Given the description of an element on the screen output the (x, y) to click on. 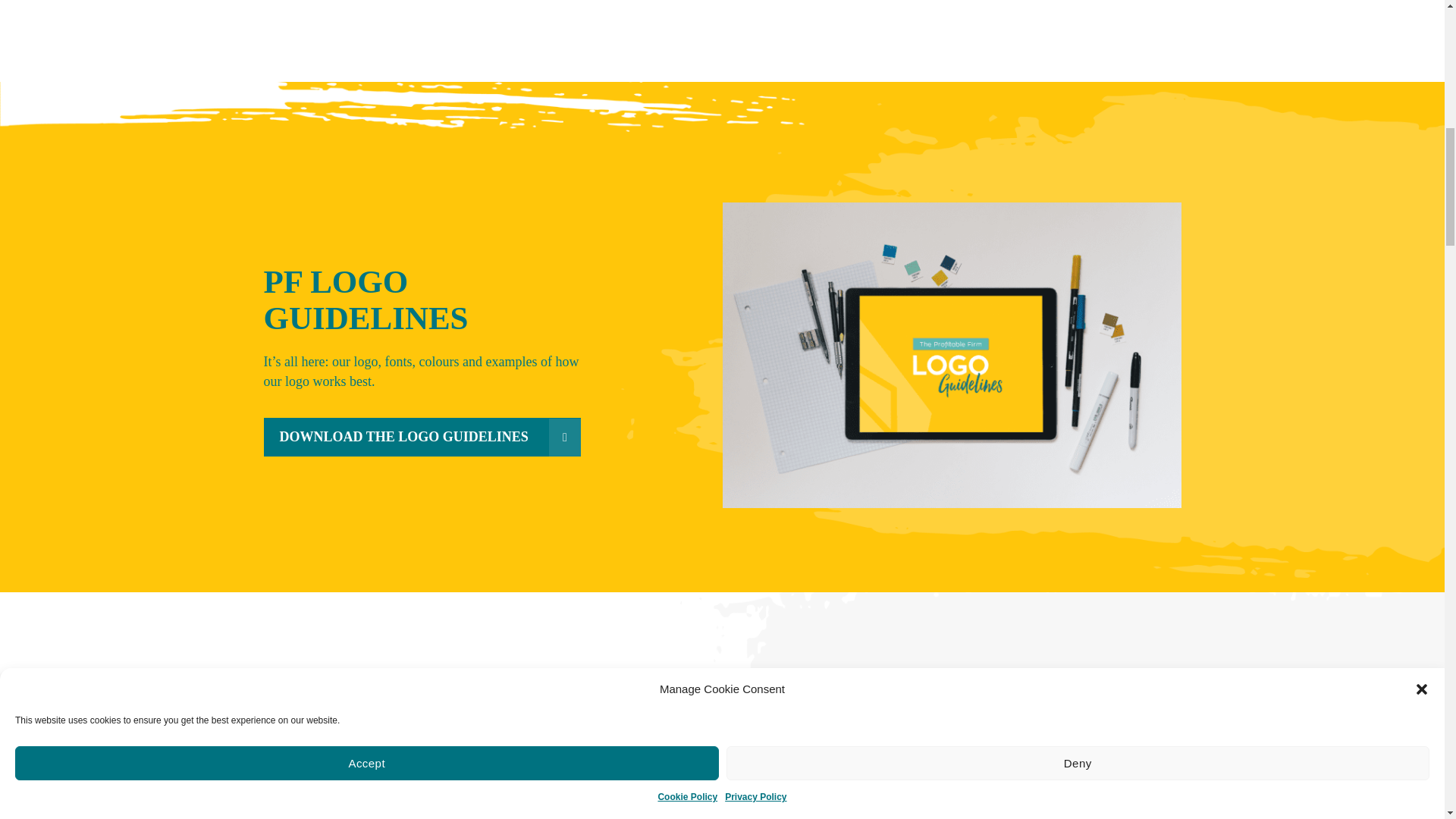
PF Logo (951, 759)
